Given the description of an element on the screen output the (x, y) to click on. 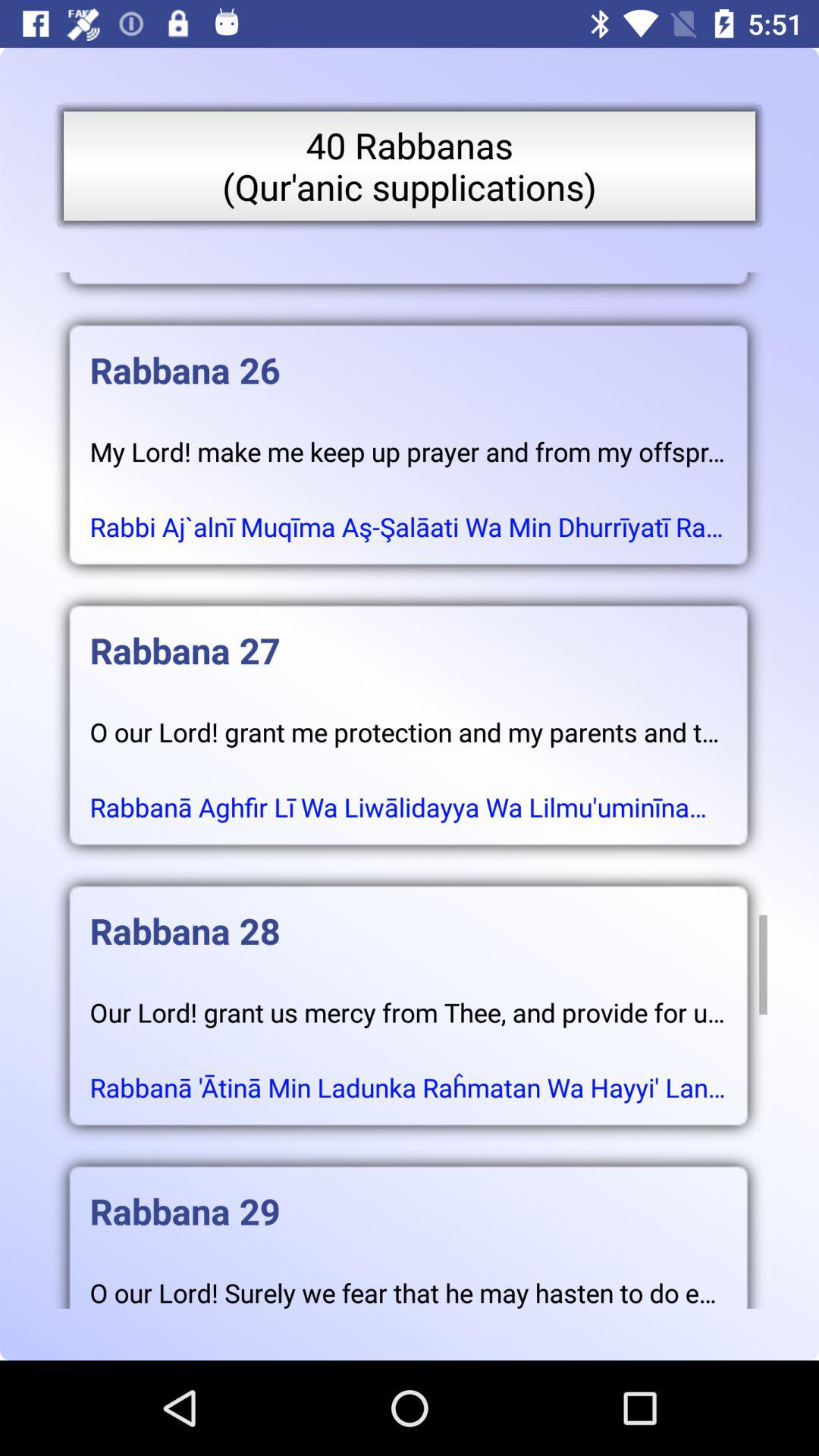
choose icon below o our lord (408, 791)
